Given the description of an element on the screen output the (x, y) to click on. 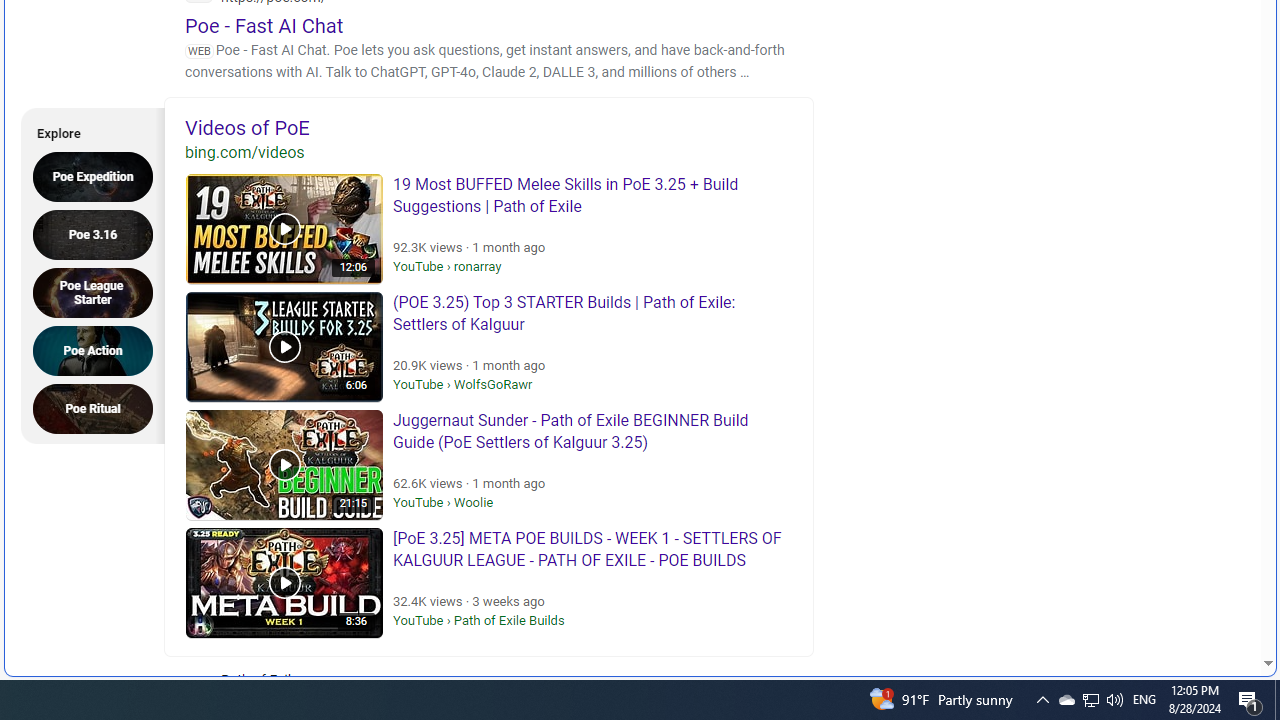
AutomationID: mfa_root (1192, 603)
Poe Action (99, 349)
